Given the description of an element on the screen output the (x, y) to click on. 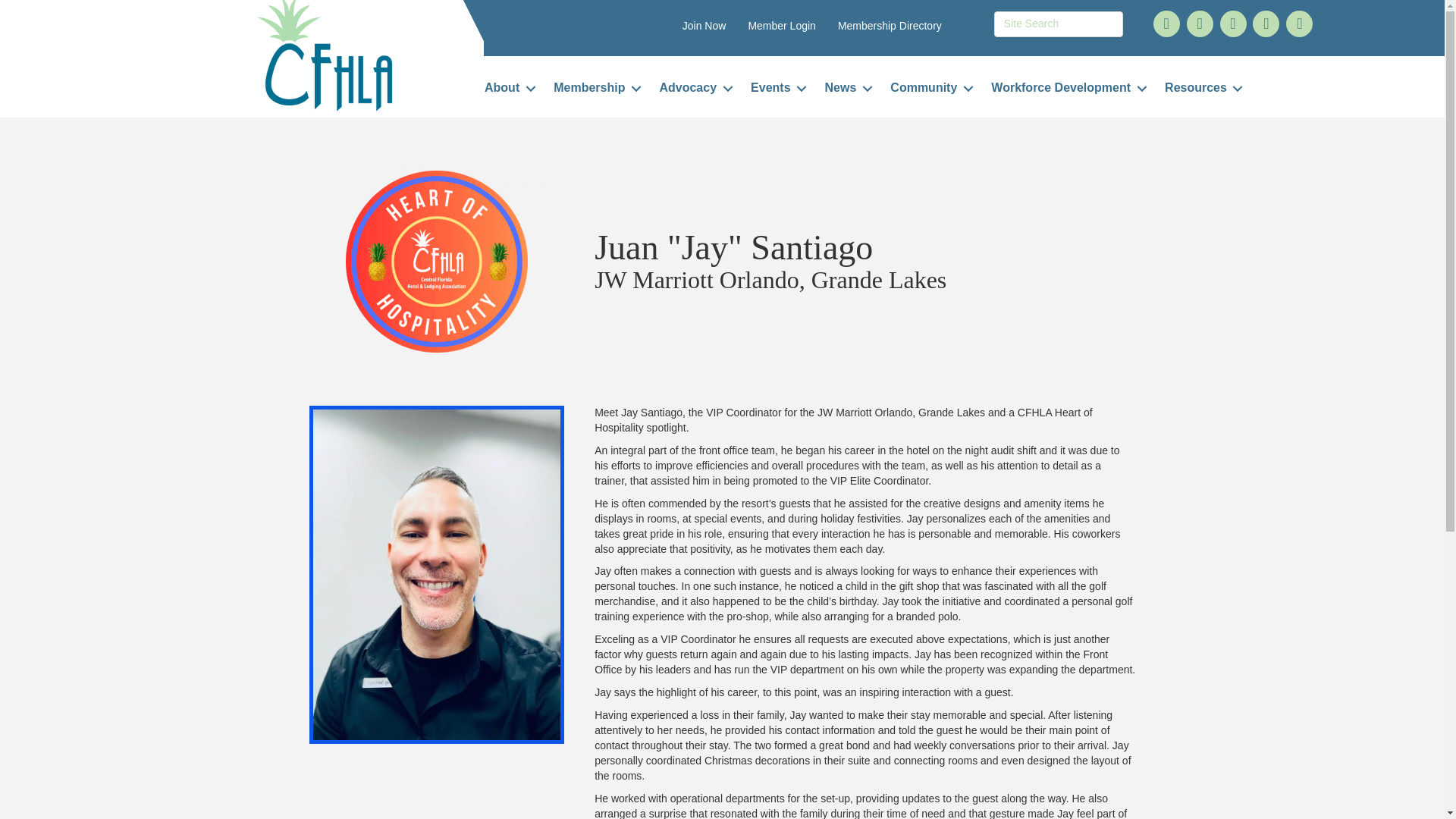
Membership Directory (889, 25)
CFHLA Acro (322, 55)
Advocacy (692, 88)
About (507, 88)
Hospitality-Spotlight-Logo-transparent (436, 261)
Santiago, Jay (436, 574)
Membership (593, 88)
Join Now (703, 25)
Member Login (781, 25)
